Given the description of an element on the screen output the (x, y) to click on. 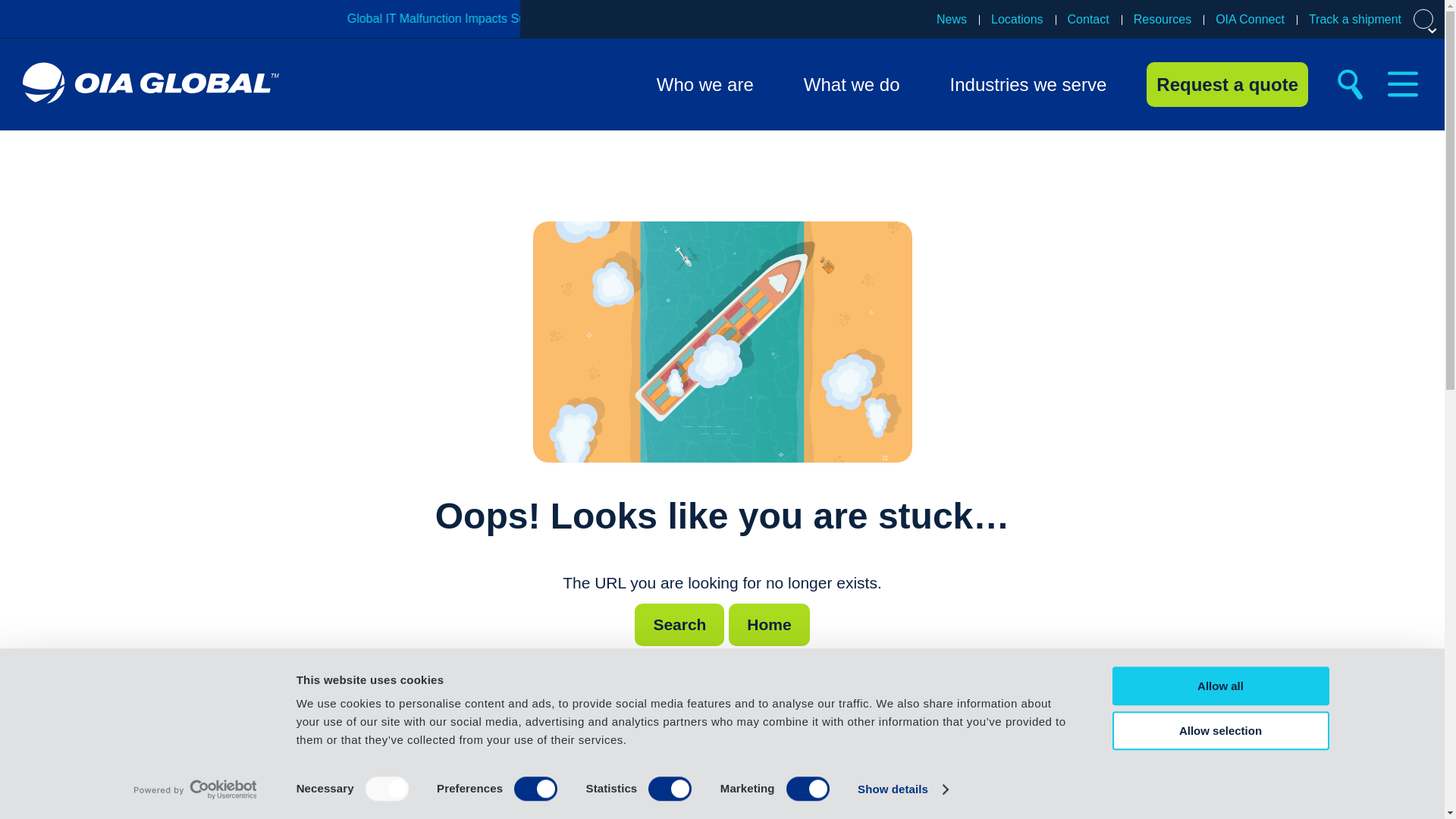
Show details (902, 789)
